Given the description of an element on the screen output the (x, y) to click on. 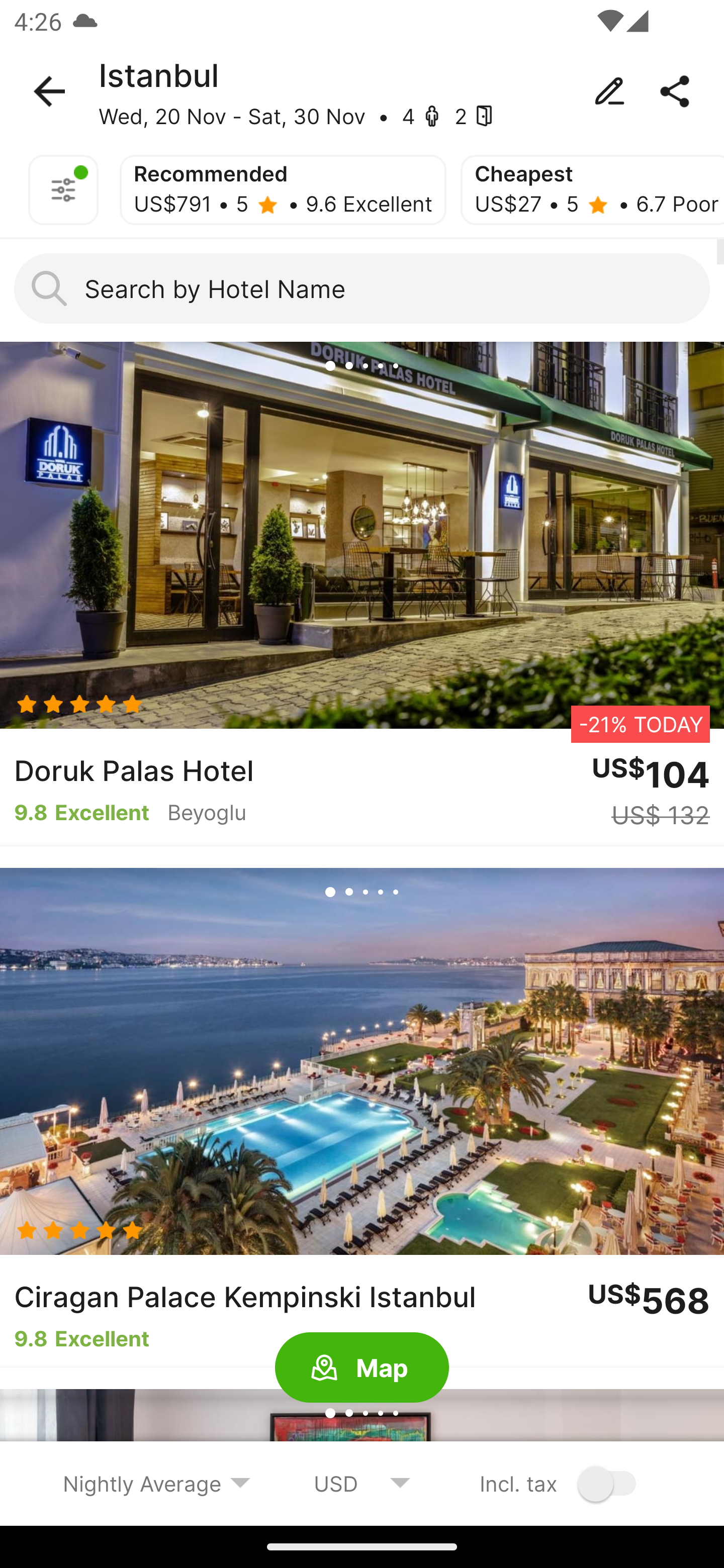
Istanbul Wed, 20 Nov - Sat, 30 Nov  •  4 -  2 - (361, 91)
Recommended  US$791  • 5 - • 9.6 Excellent (282, 190)
Cheapest US$27  • 5 - • 6.7 Poor (592, 190)
Search by Hotel Name  (361, 288)
Map  (361, 1367)
Nightly Average (156, 1482)
USD (361, 1482)
